Given the description of an element on the screen output the (x, y) to click on. 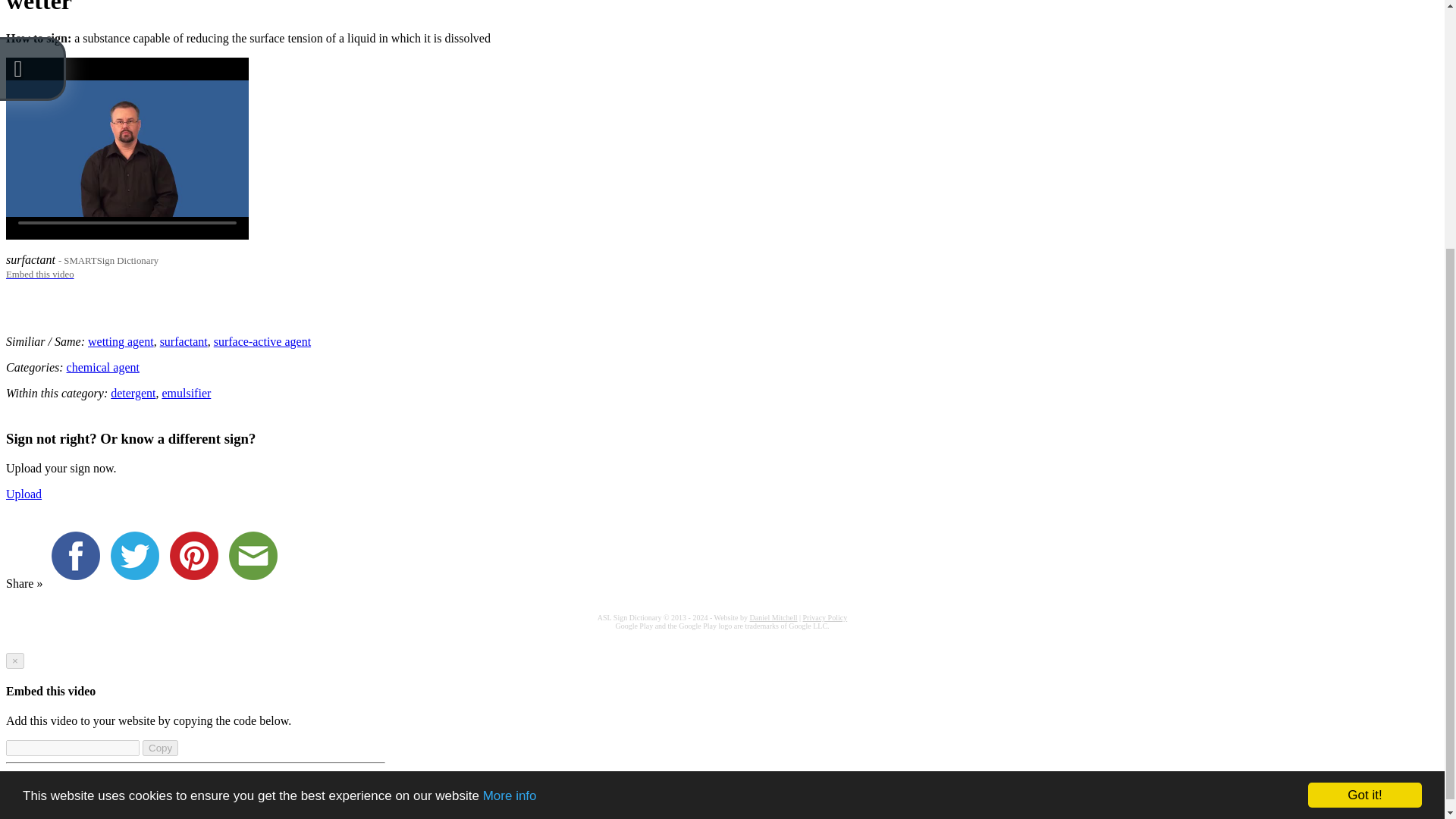
Copy to Clipboard (159, 747)
chemical agent (102, 367)
surfactant (184, 341)
Facebook (78, 583)
Copy (159, 747)
detergent (132, 392)
More info (510, 481)
Upload (23, 493)
Twitter (138, 583)
Embed this video (39, 273)
Privacy Policy (825, 617)
wetting agent (120, 341)
Pininterest (197, 583)
Daniel Mitchell (772, 617)
surface-active agent (262, 341)
